Given the description of an element on the screen output the (x, y) to click on. 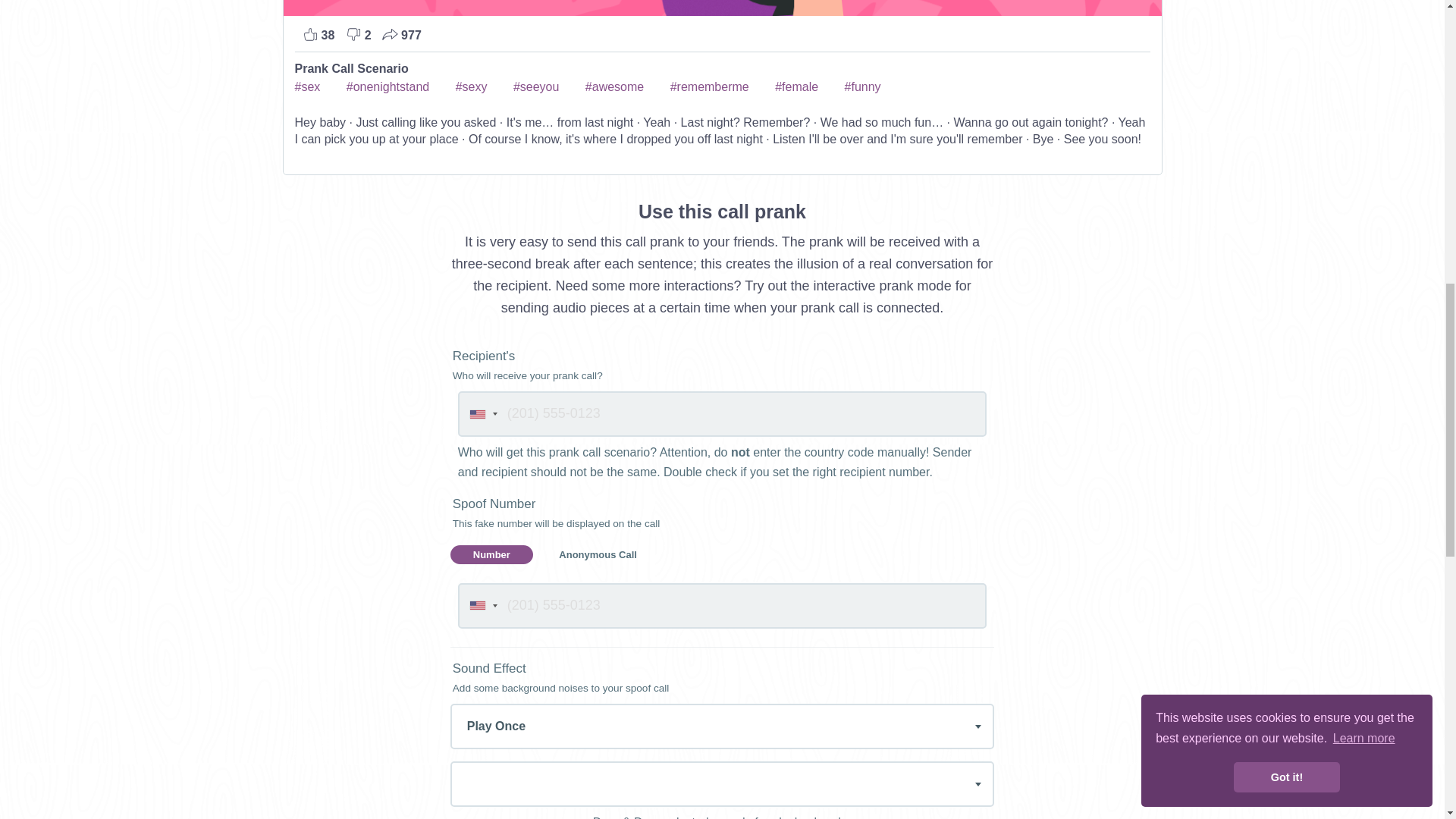
Prank sent (401, 34)
Play Once (721, 725)
Downvote prank (358, 34)
Upvote prank (317, 34)
